Given the description of an element on the screen output the (x, y) to click on. 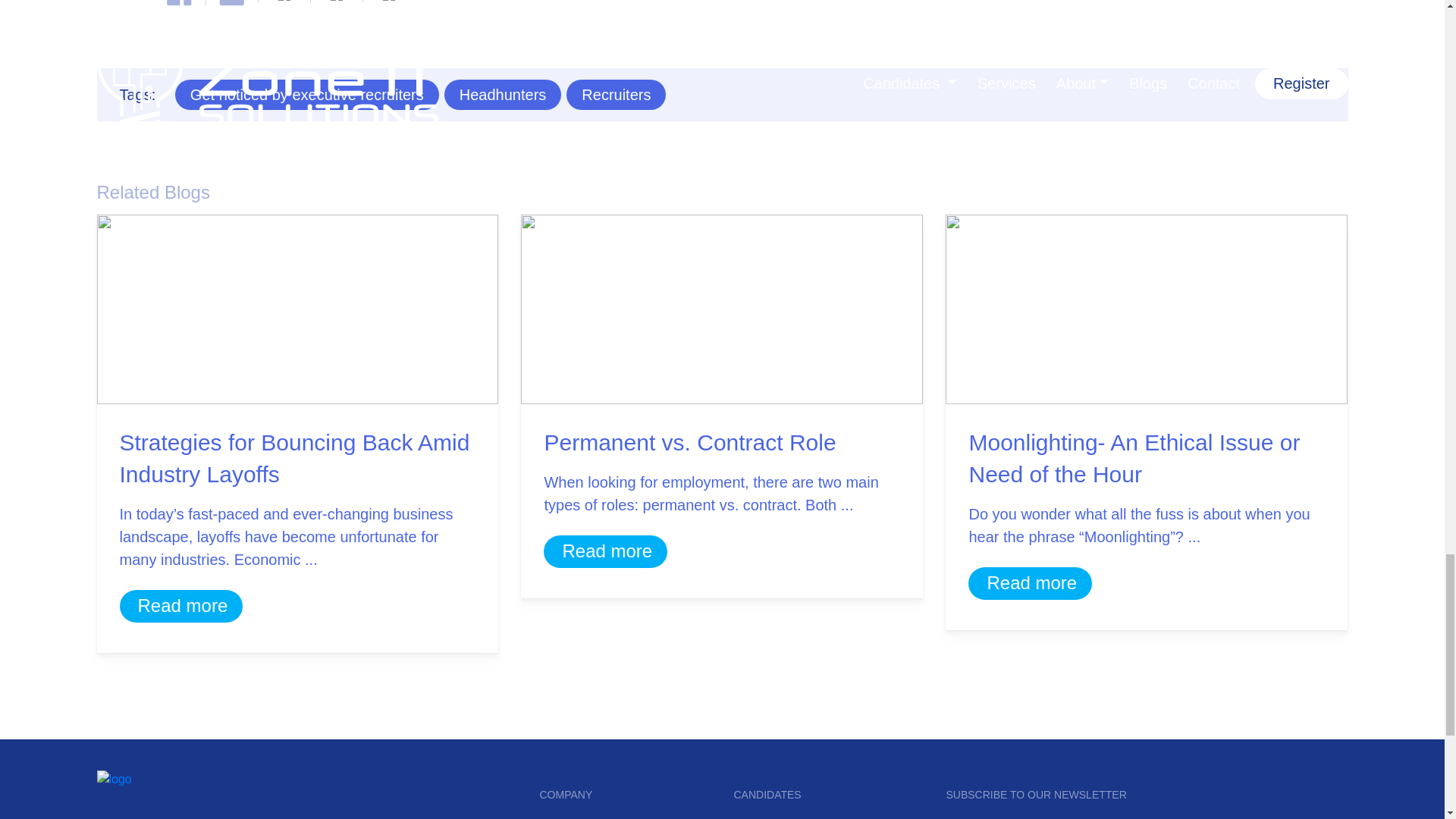
Read more (183, 605)
Read more (1032, 582)
Read more (607, 550)
